Given the description of an element on the screen output the (x, y) to click on. 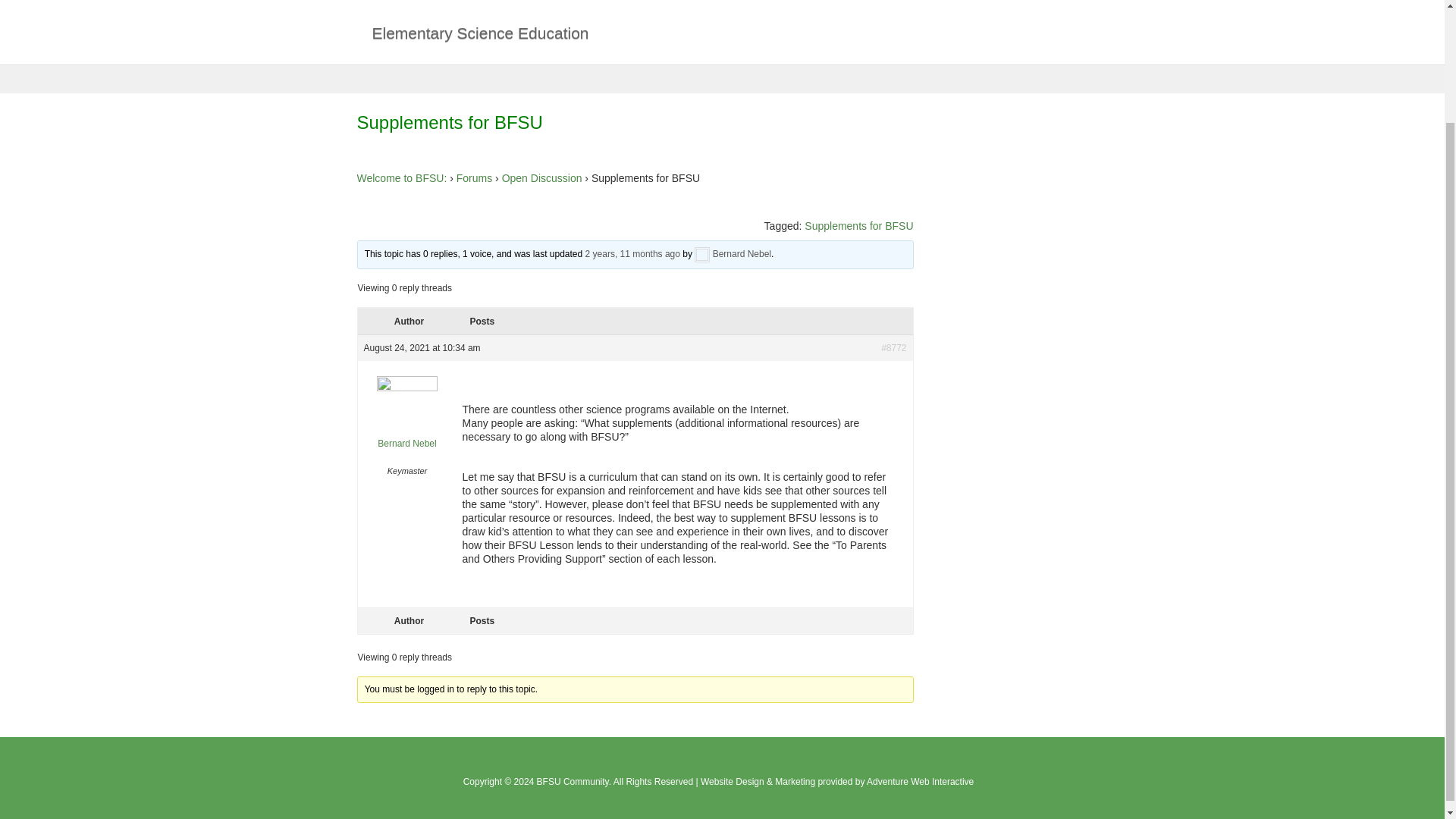
Supplements for BFSU (632, 253)
Bernard Nebel (742, 253)
Forums (474, 177)
View Bernard Nebel's profile (742, 253)
Supplements for BFSU (858, 225)
View Bernard Nebel's profile (702, 253)
Adventure Web Interactive (920, 781)
Welcome to BFSU: (401, 177)
Open Discussion (542, 177)
View Bernard Nebel's profile (407, 443)
